Given the description of an element on the screen output the (x, y) to click on. 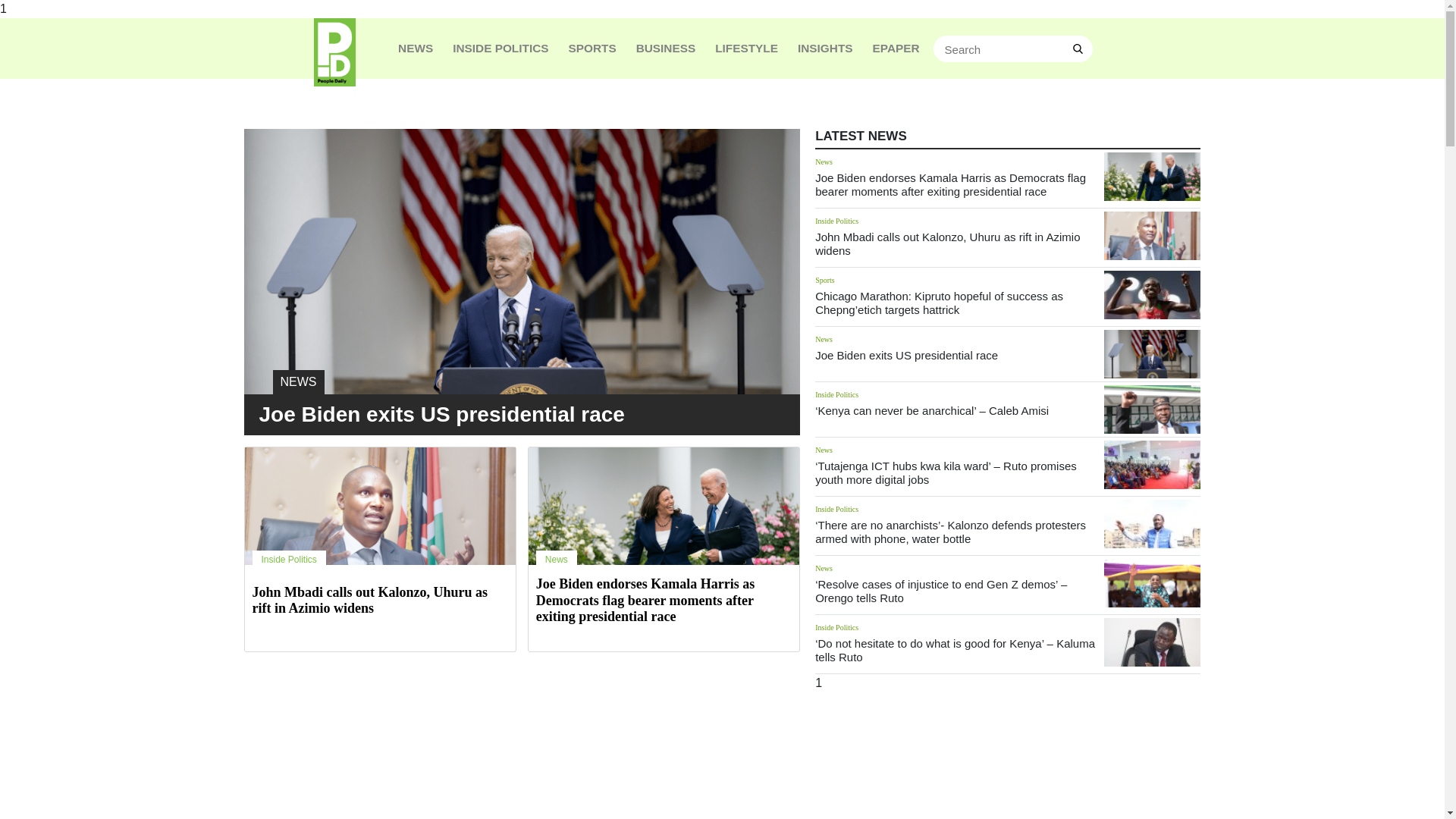
NEWS (415, 48)
BUSINESS (665, 48)
John Mbadi calls out Kalonzo, Uhuru as rift in Azimio widens (1151, 235)
SPORTS (592, 48)
INSIGHTS (825, 48)
NEWS (522, 323)
John Mbadi calls out Kalonzo, Uhuru as rift in Azimio widens (369, 600)
Search for: (1013, 48)
EPAPER (896, 48)
John Mbadi calls out Kalonzo, Uhuru as rift in Azimio widens (947, 243)
Joe Biden exits US presidential race (906, 354)
John Mbadi calls out Kalonzo, Uhuru as rift in Azimio widens (947, 243)
